Given the description of an element on the screen output the (x, y) to click on. 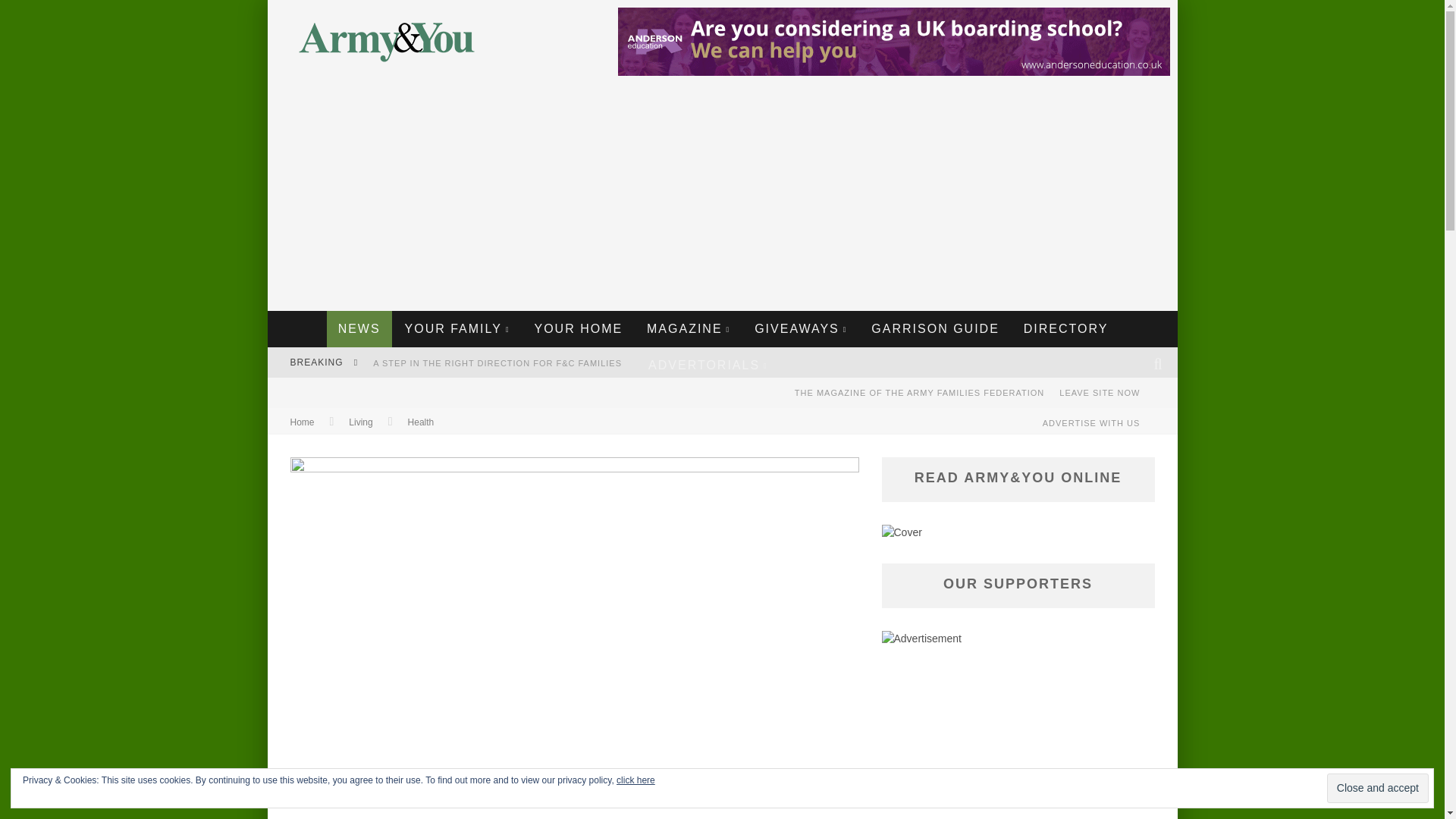
Close and accept (1377, 788)
View all posts in Living (360, 421)
View all posts in Health (420, 421)
NEWS (358, 329)
